Given the description of an element on the screen output the (x, y) to click on. 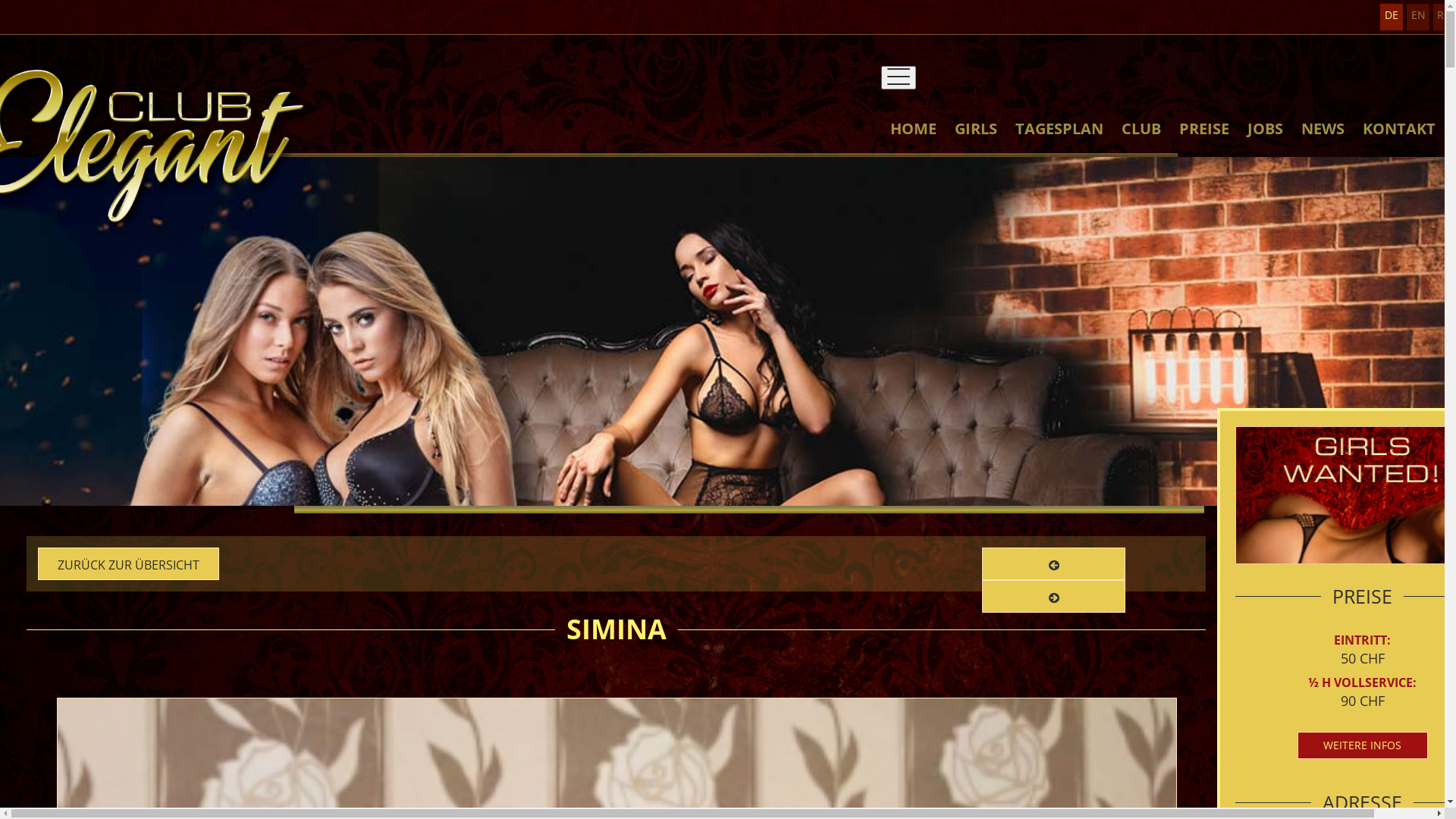
NEWS Element type: text (1322, 142)
TAGESPLAN Element type: text (1059, 142)
NAVIGATION Element type: text (898, 77)
WEITERE INFOS Element type: text (1361, 745)
DE Element type: text (1391, 16)
CLUB Element type: text (1141, 142)
JOBS Element type: text (1265, 142)
PREISE Element type: text (1204, 142)
KONTAKT Element type: text (1398, 142)
HOME Element type: text (913, 142)
EN Element type: text (1417, 16)
Club Elegant Element type: hover (722, 457)
GIRLS Element type: text (975, 142)
